Given the description of an element on the screen output the (x, y) to click on. 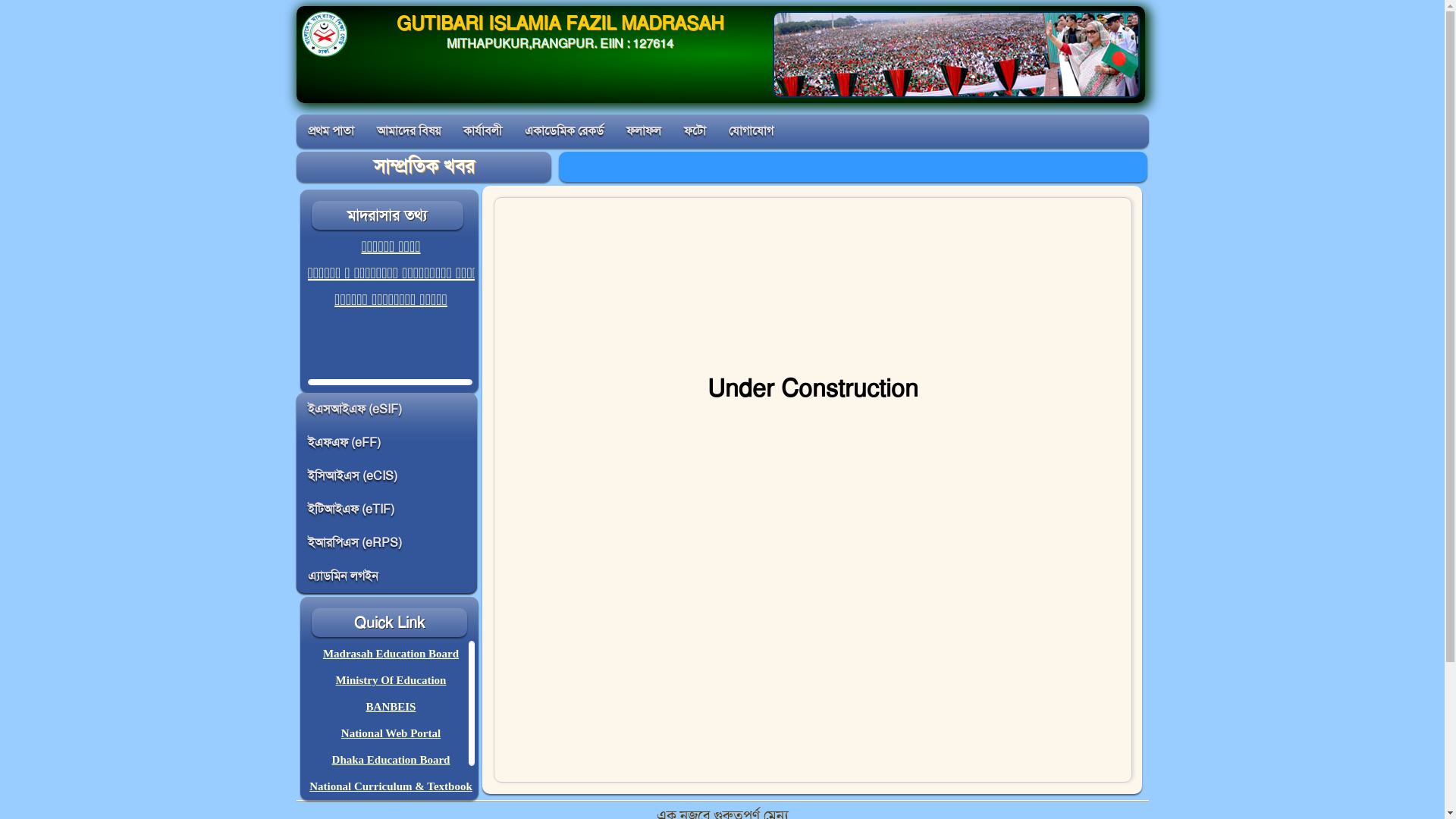
Dhaka Education Board Element type: text (391, 759)
National Web Portal Element type: text (390, 733)
BANBEIS Element type: text (391, 706)
National Curriculum & Textbook Element type: text (390, 786)
Ministry Of Education Element type: text (390, 680)
Madrasah Education Board Element type: text (390, 653)
